Given the description of an element on the screen output the (x, y) to click on. 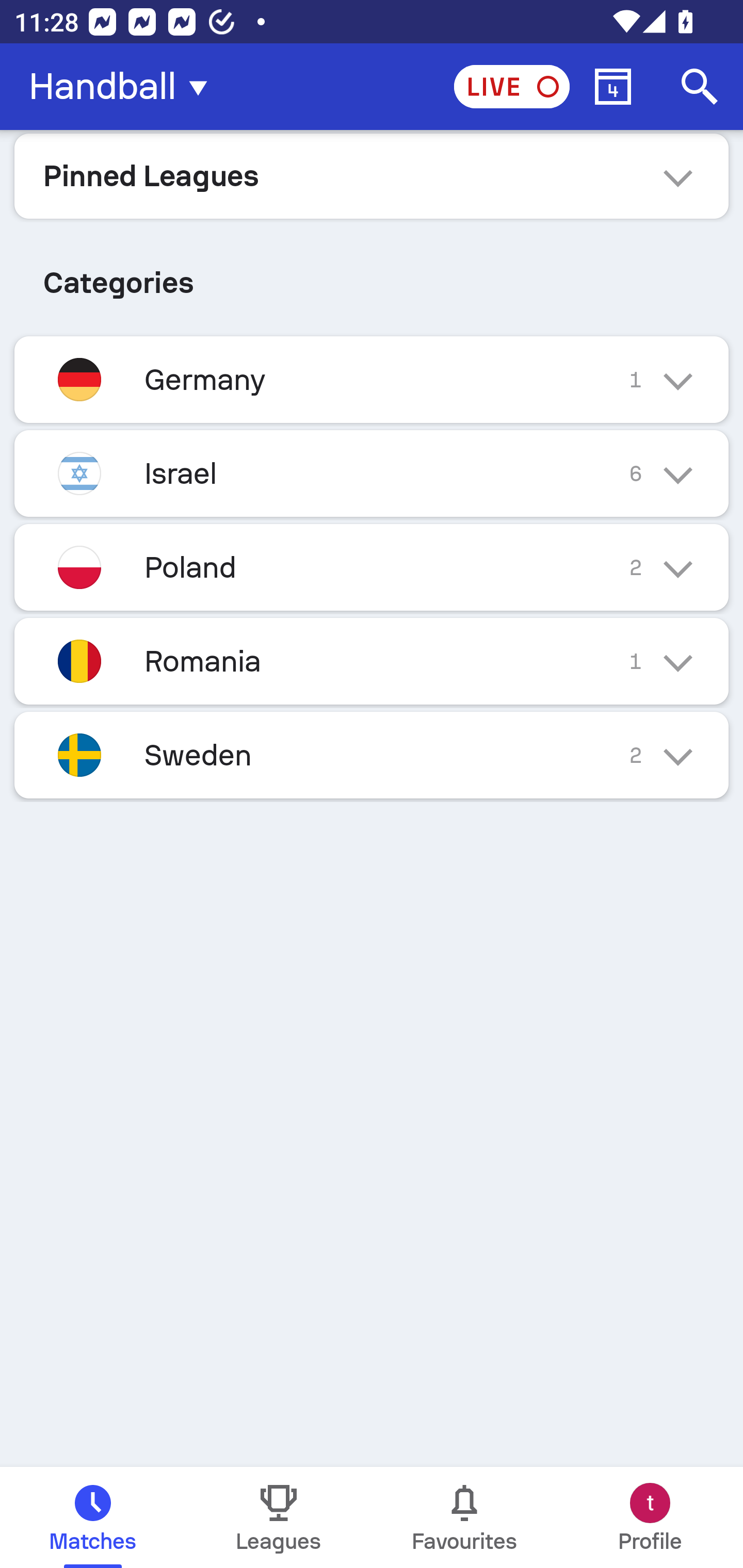
Handball (124, 86)
Calendar (612, 86)
Search (699, 86)
Pinned Leagues (371, 175)
Categories (371, 275)
Germany 1 (371, 379)
Israel 6 (371, 473)
Poland 2 (371, 566)
Romania 1 (371, 660)
Sweden 2 (371, 754)
Leagues (278, 1517)
Favourites (464, 1517)
Profile (650, 1517)
